Given the description of an element on the screen output the (x, y) to click on. 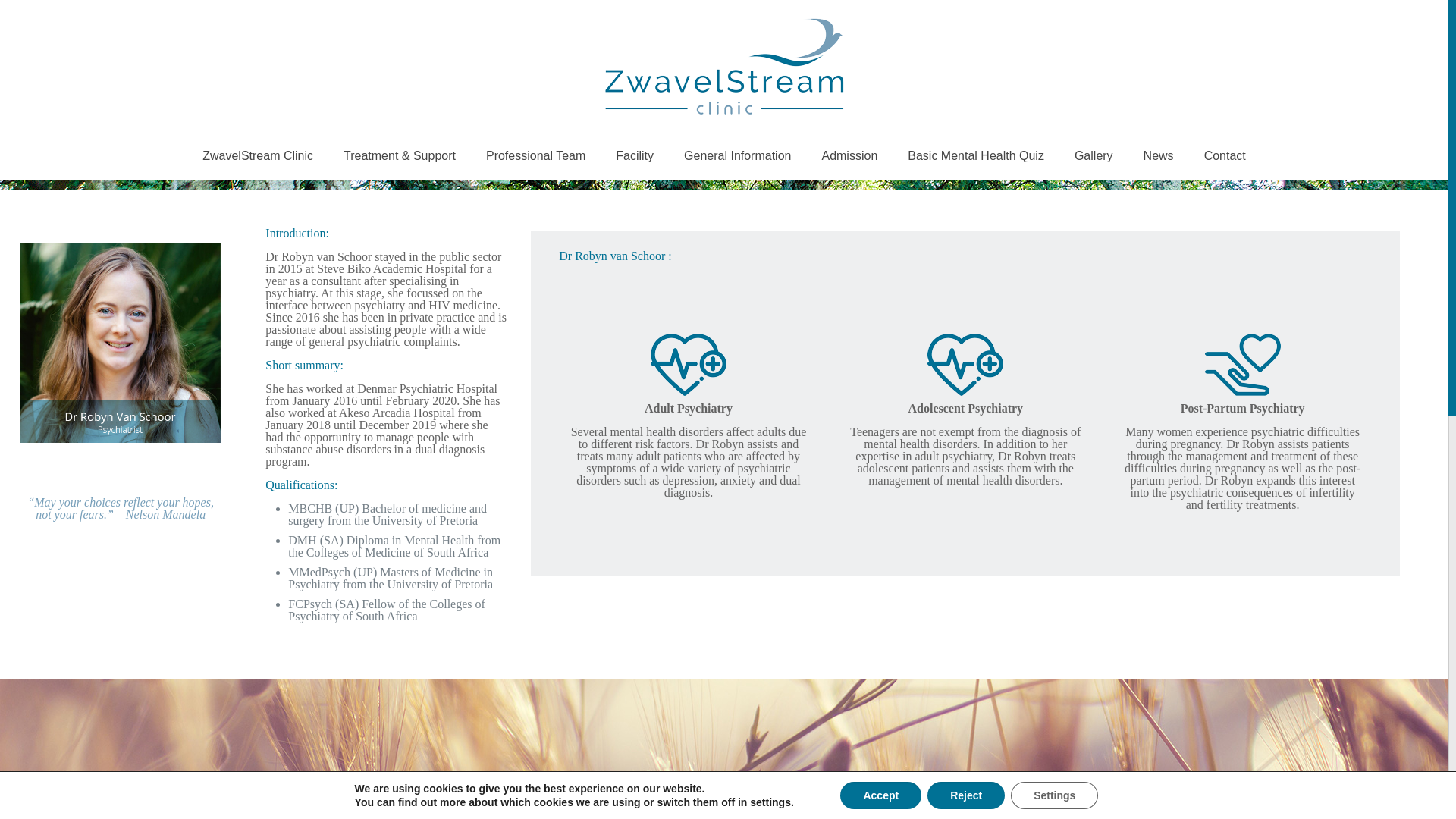
News (1158, 156)
Basic Mental Health Quiz (975, 156)
Gallery (1093, 156)
Facility (633, 156)
Admission (849, 156)
Professional Team (534, 156)
General Information (737, 156)
ZwavelStream Clinic (258, 156)
zwavelstreamclinic.co.za (724, 66)
